Given the description of an element on the screen output the (x, y) to click on. 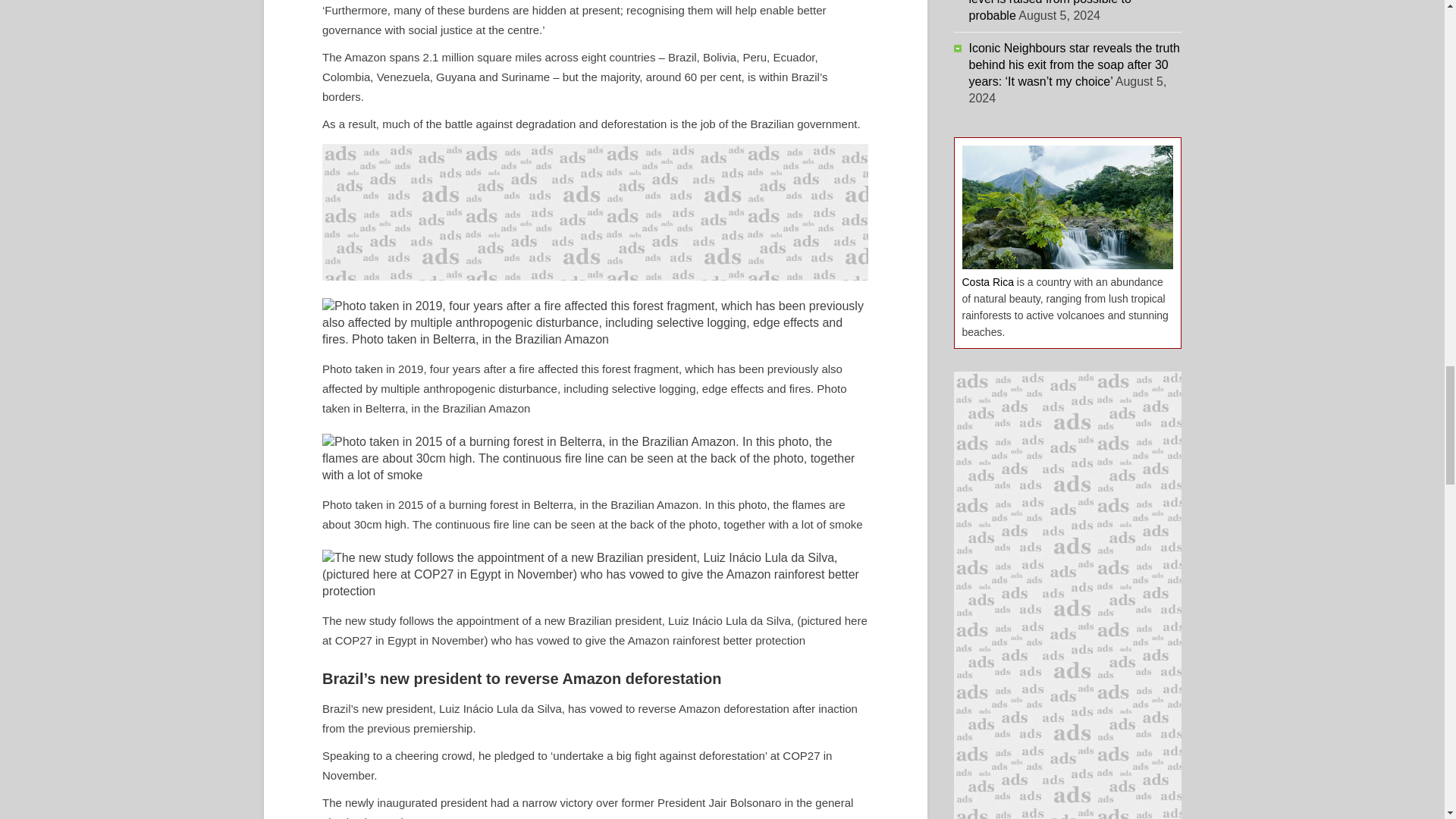
Advertisement (594, 212)
Costa Rica (986, 282)
